Given the description of an element on the screen output the (x, y) to click on. 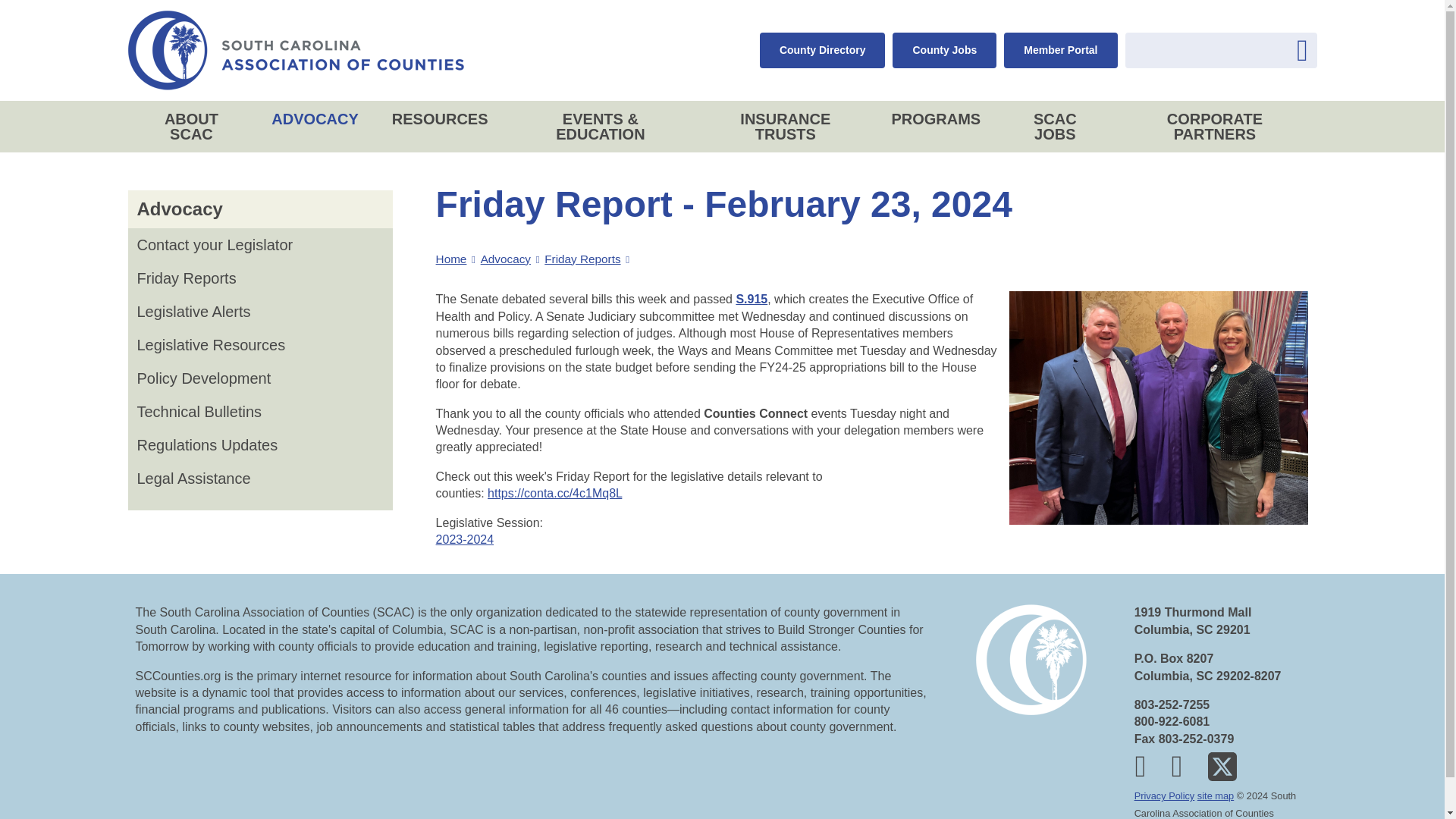
RESOURCES (1331, 178)
ADVOCACY (1331, 133)
COUNTY JOBS (1309, 36)
Enter the terms you wish to search for. (1221, 49)
ABOUT SCAC (1331, 89)
MEMBER PORTAL (1345, 36)
Friday Report - Feb. 23, 2024 (554, 492)
Home (295, 50)
COUNTY DIRECTORY (1272, 36)
